Given the description of an element on the screen output the (x, y) to click on. 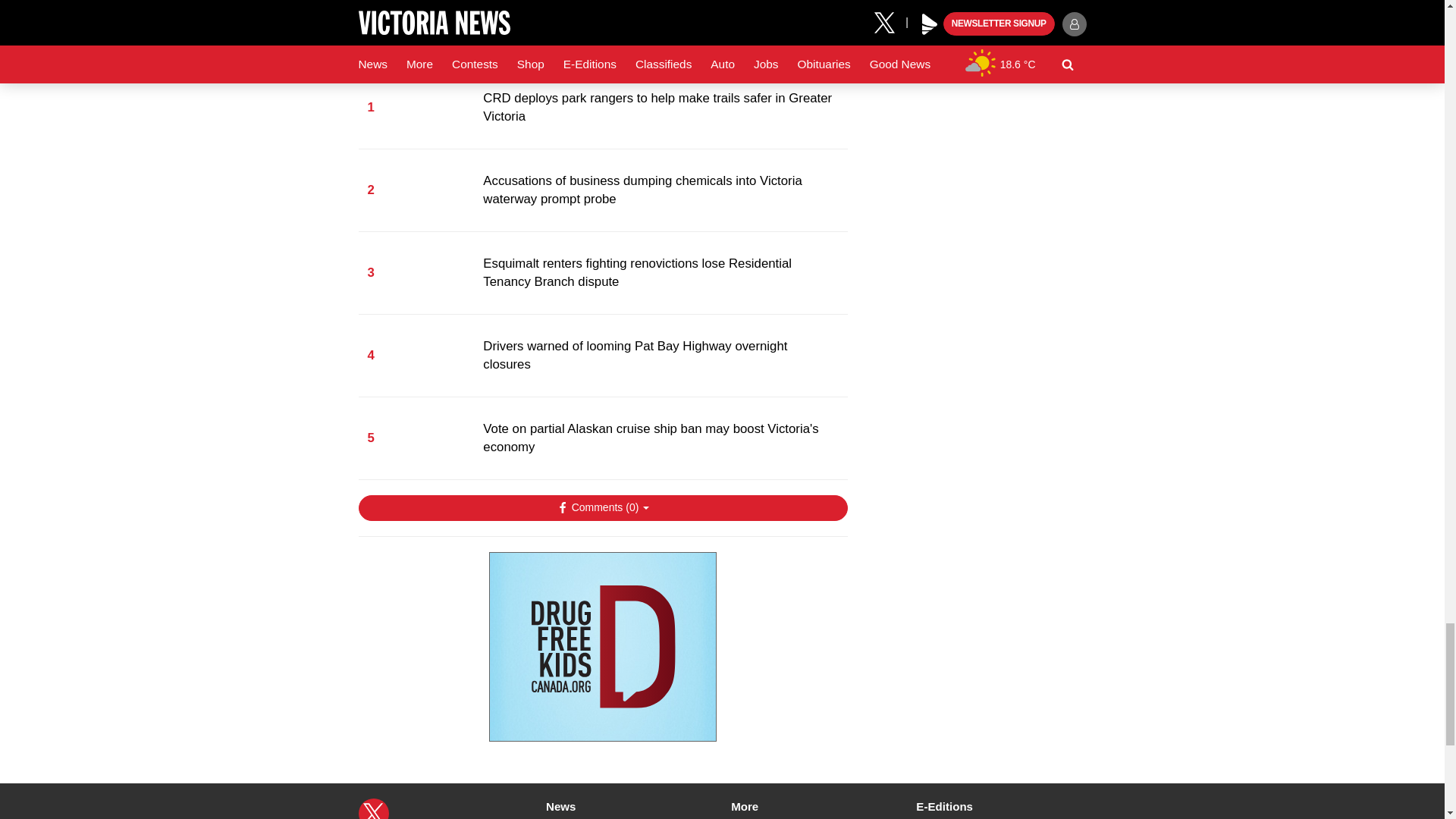
Show Comments (602, 507)
X (373, 808)
3rd party ad content (602, 647)
